Given the description of an element on the screen output the (x, y) to click on. 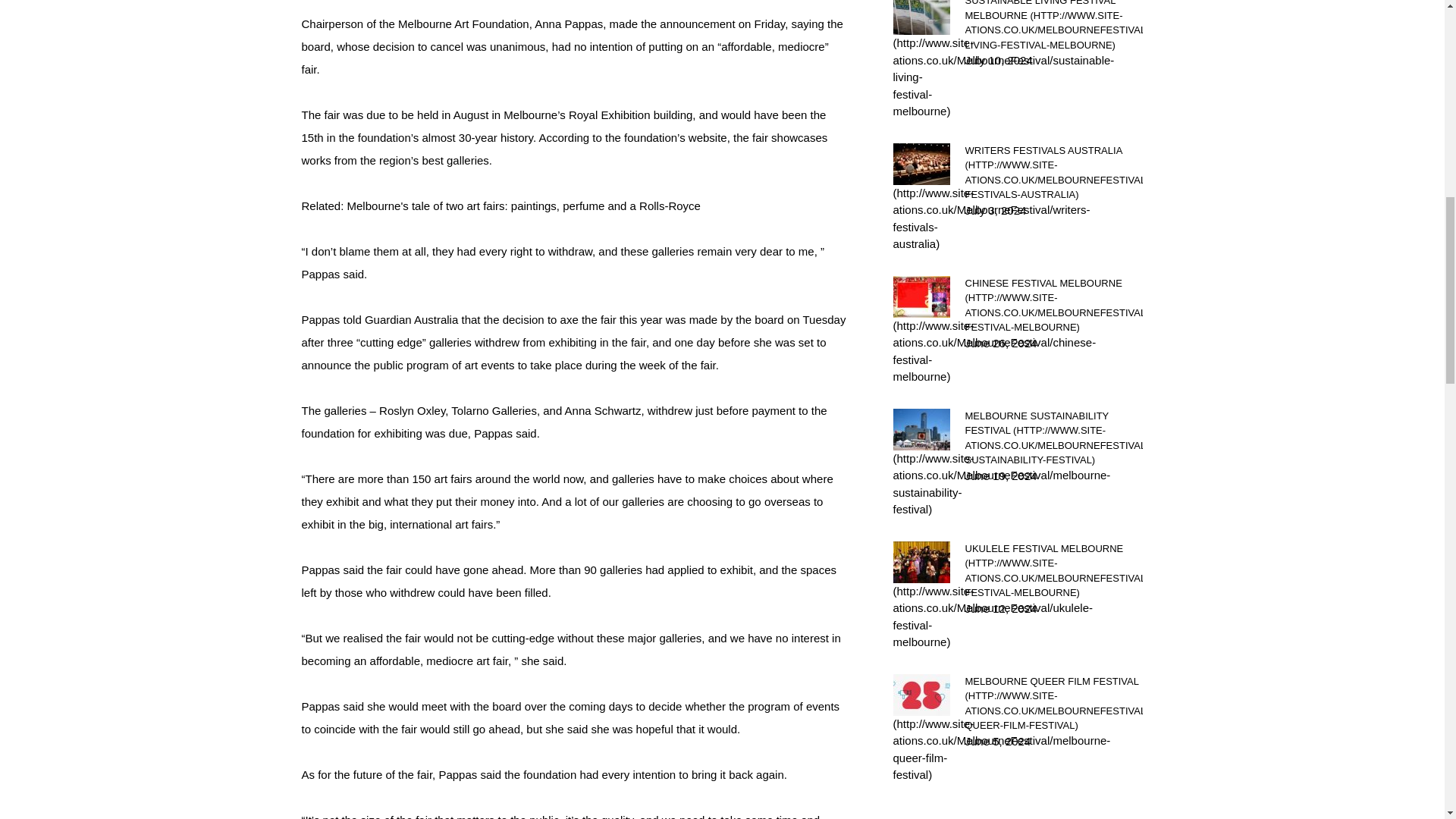
MELBOURNE SUSTAINABILITY FESTIVAL (1052, 436)
SUSTAINABLE LIVING FESTIVAL MELBOURNE (1052, 26)
WRITERS FESTIVALS AUSTRALIA (1052, 171)
CHINESE FESTIVAL MELBOURNE (1052, 305)
